Given the description of an element on the screen output the (x, y) to click on. 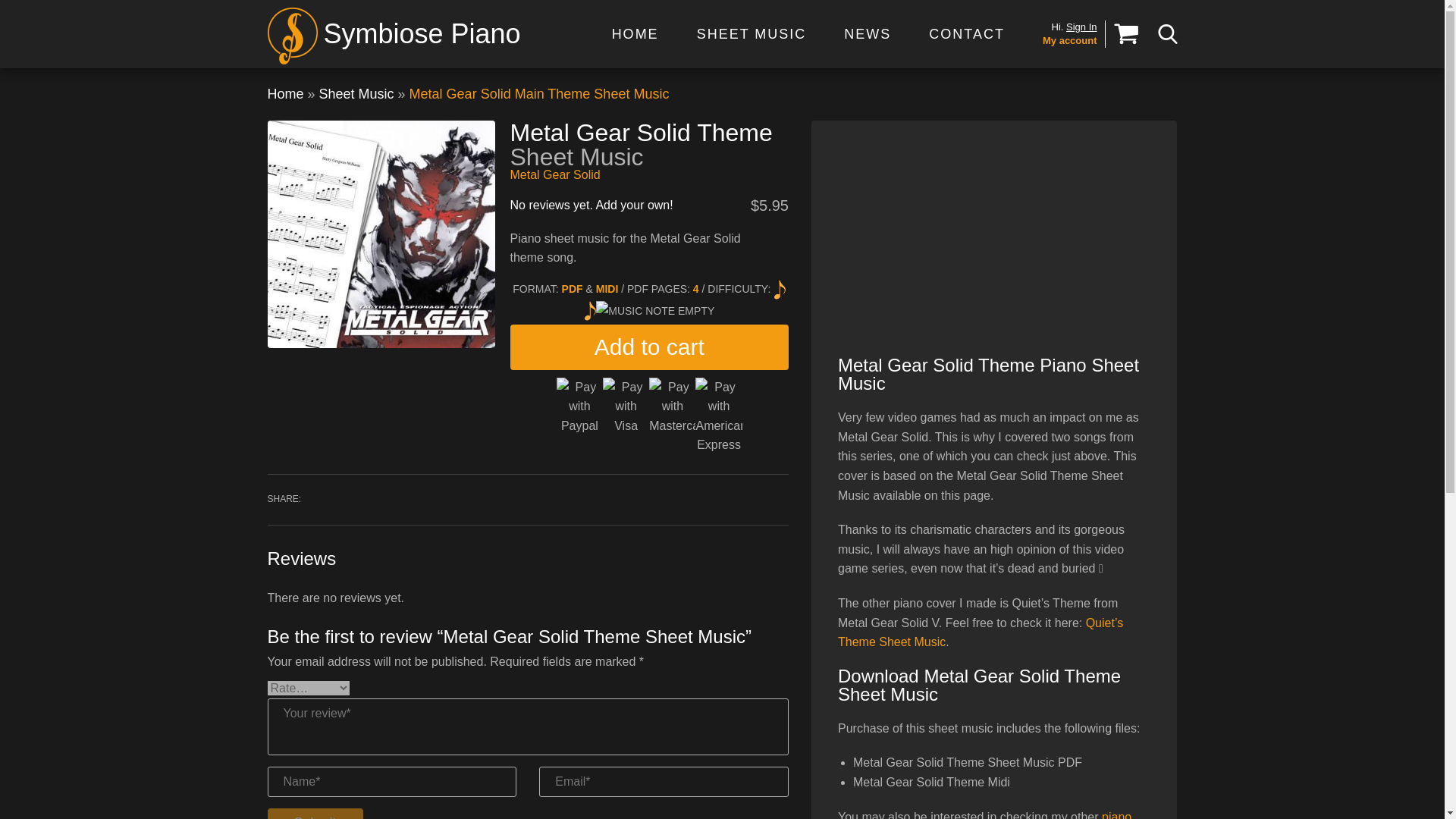
piano sheet music (984, 814)
Sheet Music (356, 93)
Symbiose Piano (392, 32)
Add to cart (648, 347)
Submit (314, 813)
Sign In (1080, 26)
SHEET MUSIC (751, 33)
Symbiose Piano (392, 32)
Submit (314, 813)
Metal Gear Solid Theme Sheet Music (380, 234)
